Given the description of an element on the screen output the (x, y) to click on. 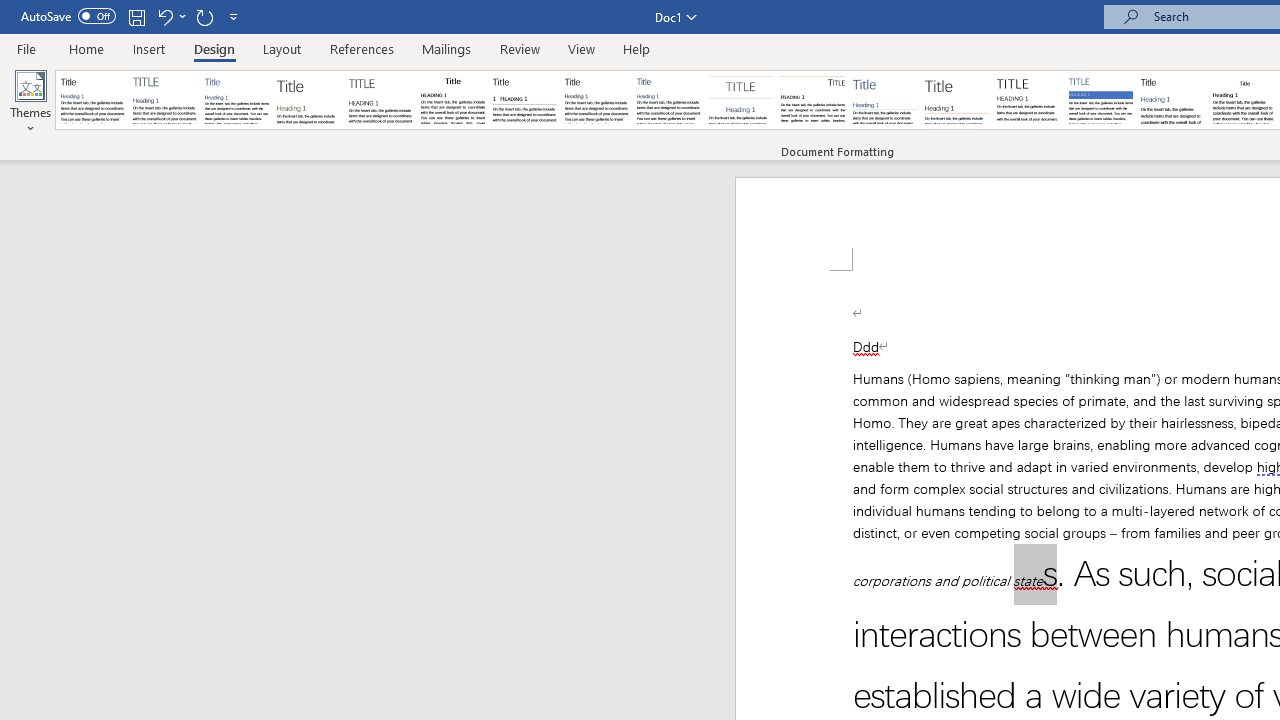
Basic (Stylish) (308, 100)
Themes (30, 102)
Lines (Simple) (884, 100)
Black & White (Numbered) (524, 100)
Lines (Distinctive) (812, 100)
Insert (149, 48)
Basic (Elegant) (164, 100)
Black & White (Classic) (452, 100)
